Given the description of an element on the screen output the (x, y) to click on. 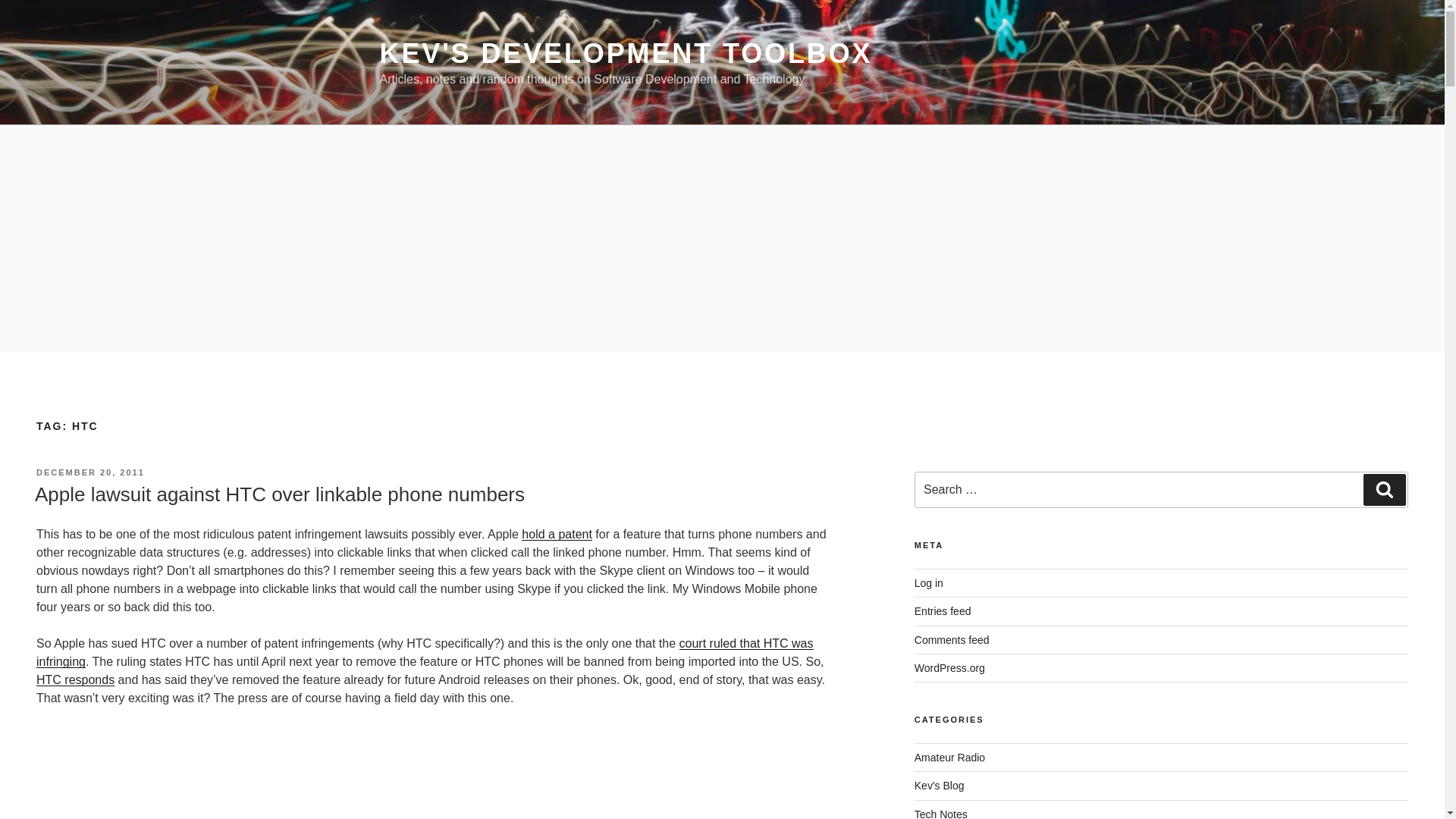
Log in (928, 582)
KEV'S DEVELOPMENT TOOLBOX (625, 52)
Amateur Radio (949, 757)
HTC responds (75, 679)
Kev's Blog (938, 785)
WordPress.org (949, 667)
Apple lawsuit against HTC over linkable phone numbers (279, 494)
Tech Notes (941, 813)
hold a patent (556, 533)
Search (1384, 490)
